Given the description of an element on the screen output the (x, y) to click on. 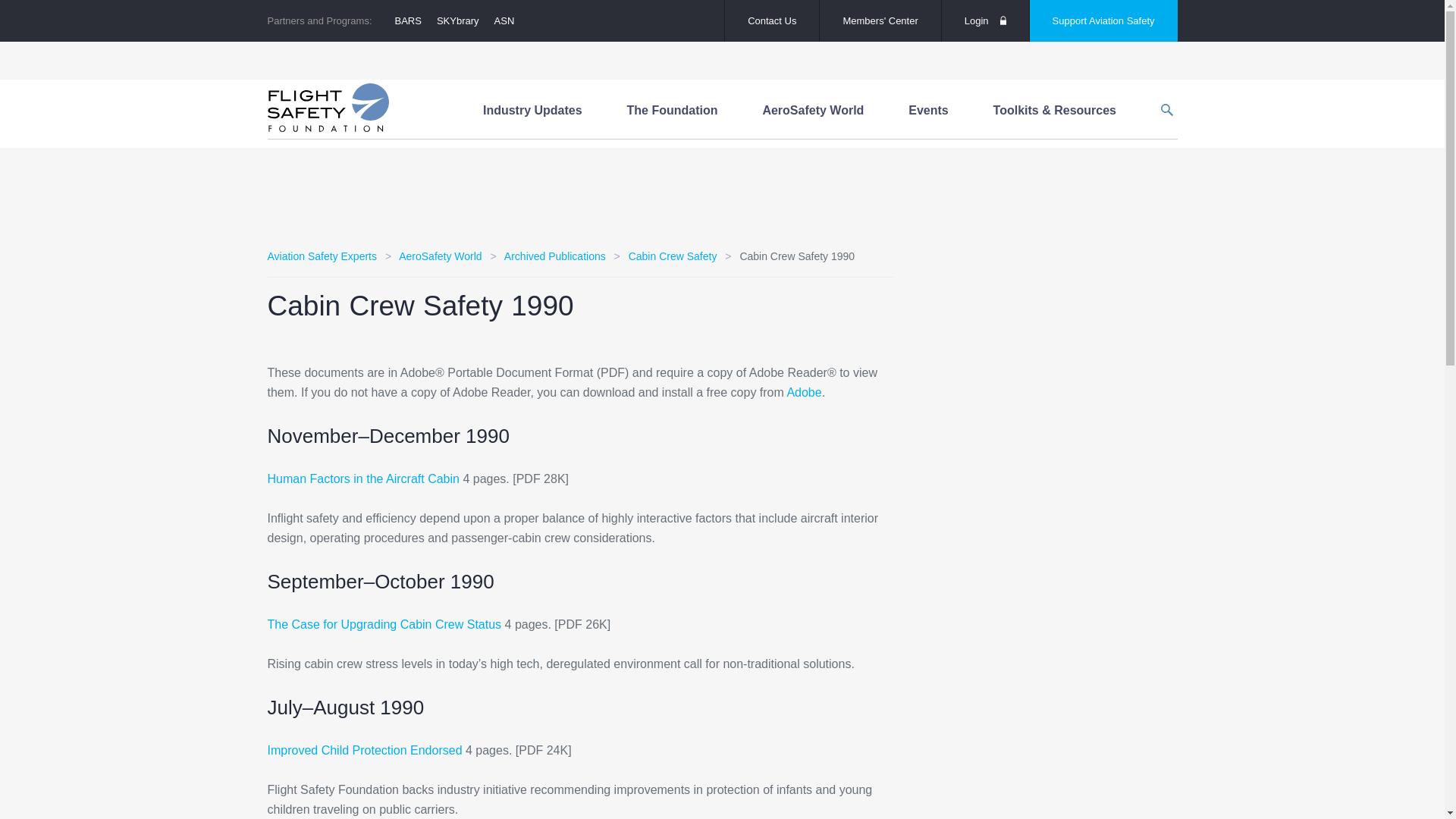
Support Aviation Safety (1103, 20)
Members' Center (879, 20)
Industry Updates (532, 110)
ASN (504, 20)
The Foundation (672, 110)
Contact Us (771, 20)
Login (985, 20)
SKYbrary (457, 20)
Events (928, 110)
AeroSafety World (812, 110)
